Given the description of an element on the screen output the (x, y) to click on. 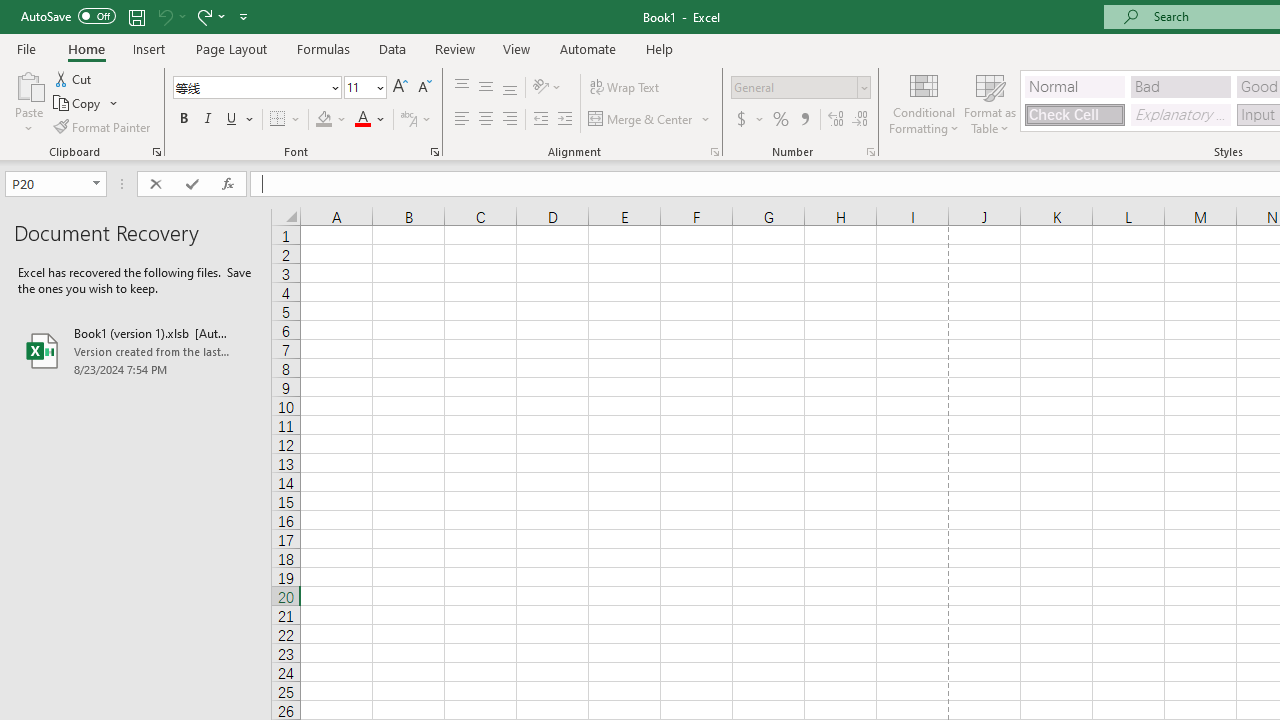
Italic (207, 119)
Increase Decimal (836, 119)
Merge & Center (641, 119)
Help (660, 48)
Format as Table (990, 102)
Decrease Font Size (424, 87)
Underline (239, 119)
Align Left (461, 119)
Percent Style (781, 119)
Office Clipboard... (156, 151)
Explanatory Text (1180, 114)
